Given the description of an element on the screen output the (x, y) to click on. 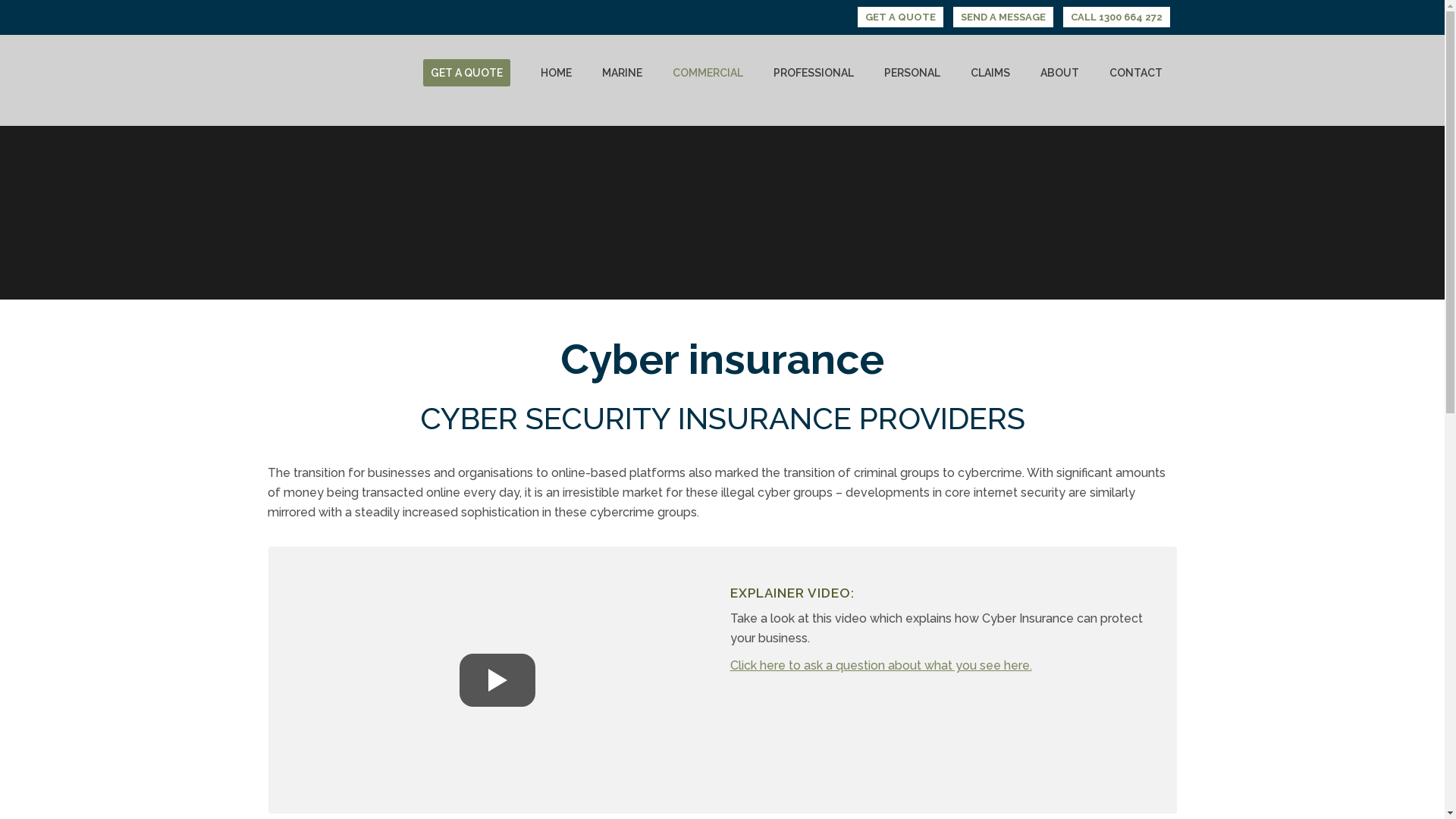
CONTACT Element type: text (1134, 72)
HOME Element type: text (555, 72)
GET A QUOTE Element type: text (899, 16)
Cyber Insurance (22) Element type: hover (496, 679)
ABOUT Element type: text (1059, 72)
CALL 1300 664 272 Element type: text (1116, 16)
GET A QUOTE Element type: text (466, 72)
MARINE Element type: text (621, 72)
PROFESSIONAL Element type: text (813, 72)
PERSONAL Element type: text (912, 72)
Click here to ask a question about what you see here. Element type: text (880, 665)
CLAIMS Element type: text (990, 72)
COMMERCIAL Element type: text (706, 72)
SEND A MESSAGE Element type: text (1002, 16)
